Given the description of an element on the screen output the (x, y) to click on. 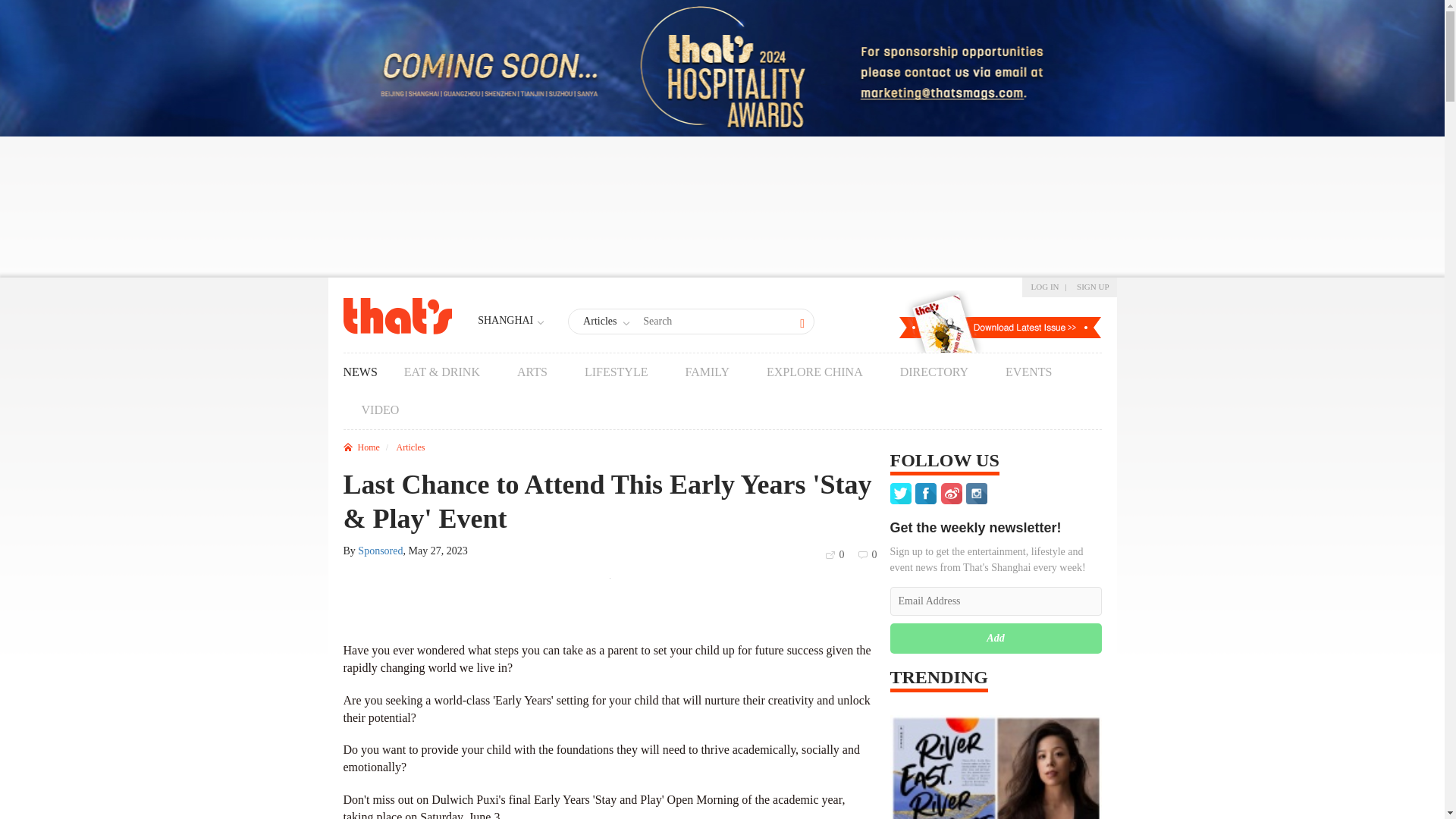
EXPLORE CHINA (814, 372)
Facebook (927, 492)
Home (360, 447)
SIGN UP (1092, 286)
Articles (607, 321)
ARTS (532, 372)
Twitter (902, 492)
LOG IN (1044, 286)
Sponsored (380, 550)
0 (836, 554)
